Given the description of an element on the screen output the (x, y) to click on. 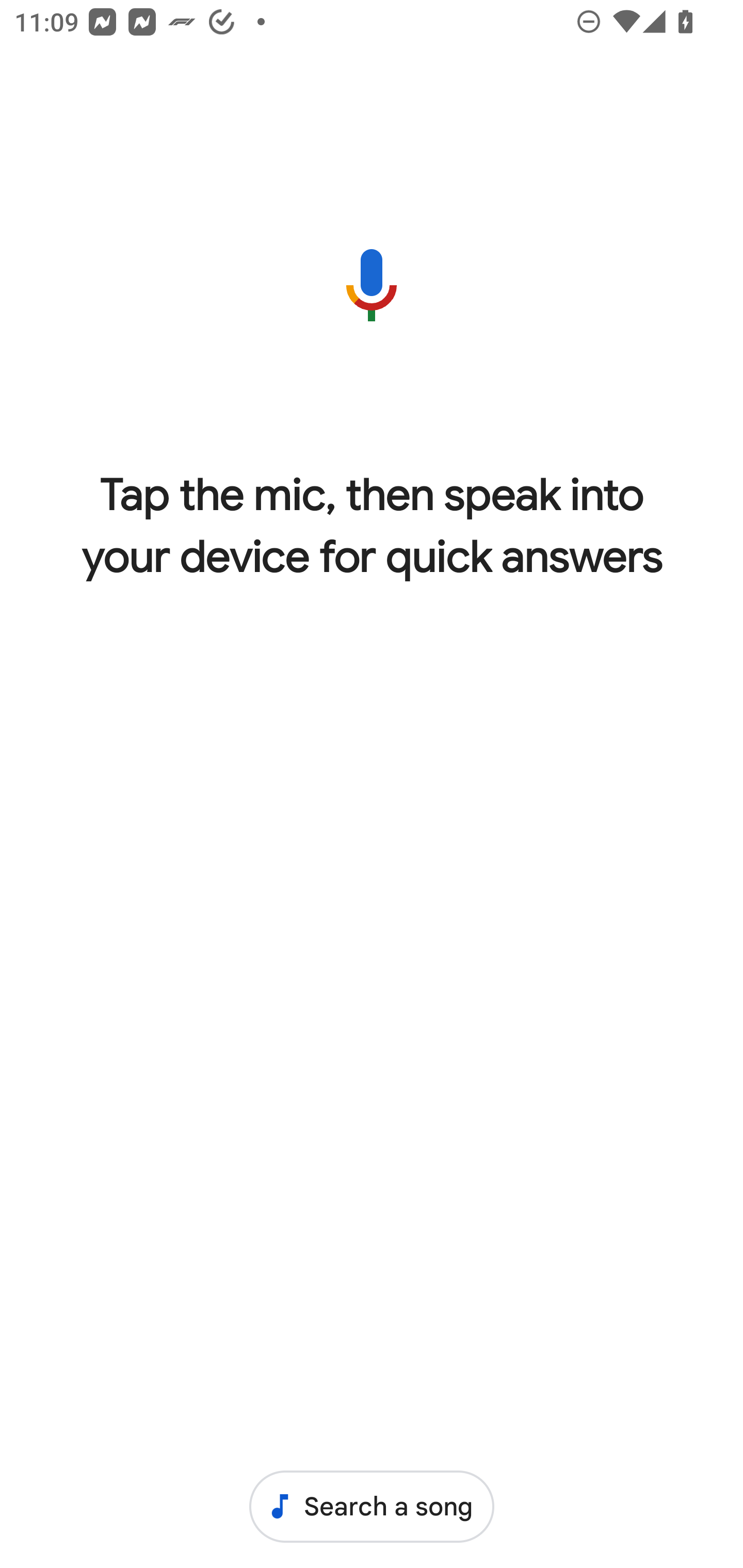
Search a song (371, 1505)
